Given the description of an element on the screen output the (x, y) to click on. 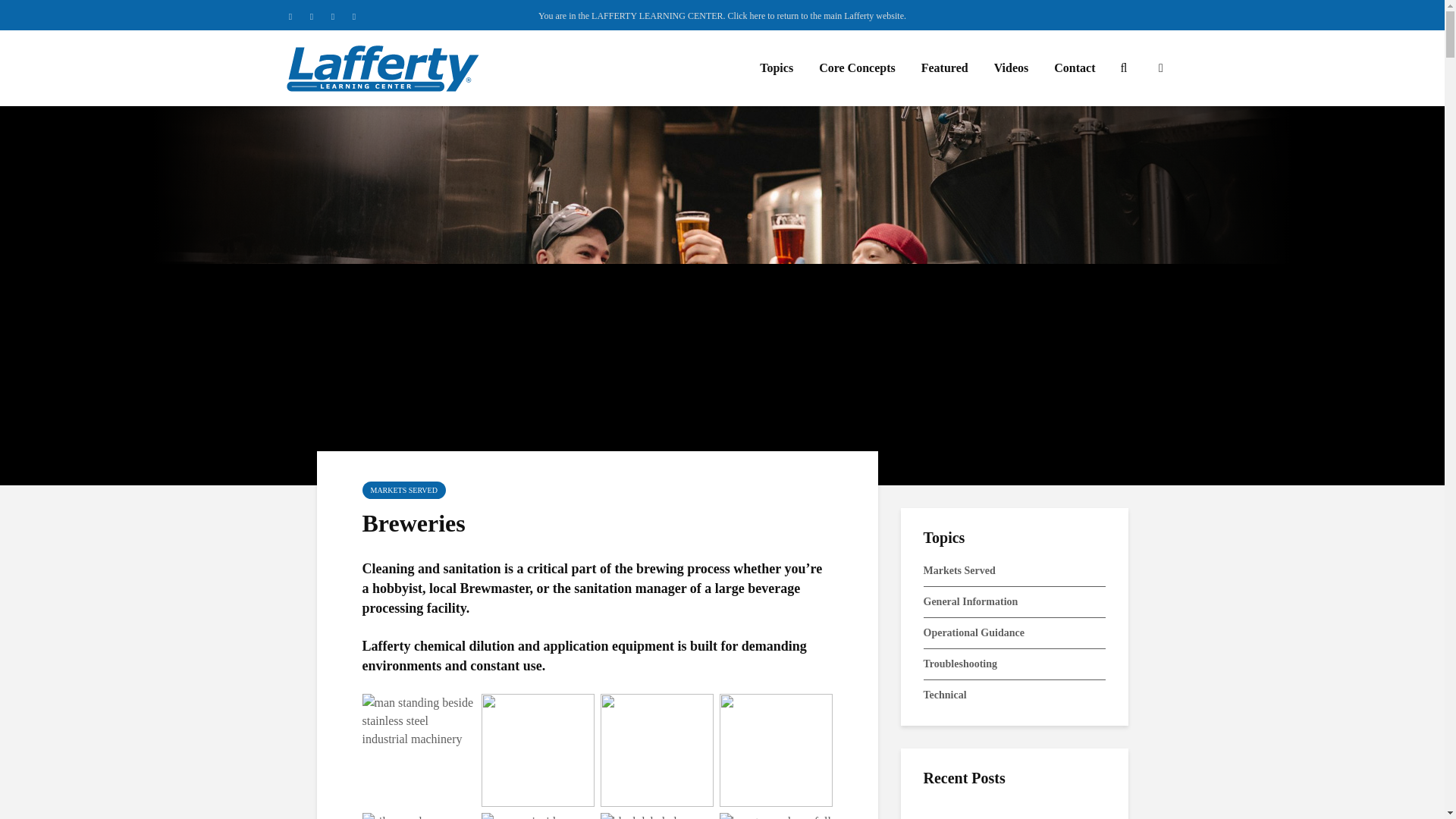
Featured (944, 68)
MARKETS SERVED (403, 489)
Core Concepts (857, 68)
Contact (1074, 68)
Topics (776, 68)
Videos (1011, 68)
